Given the description of an element on the screen output the (x, y) to click on. 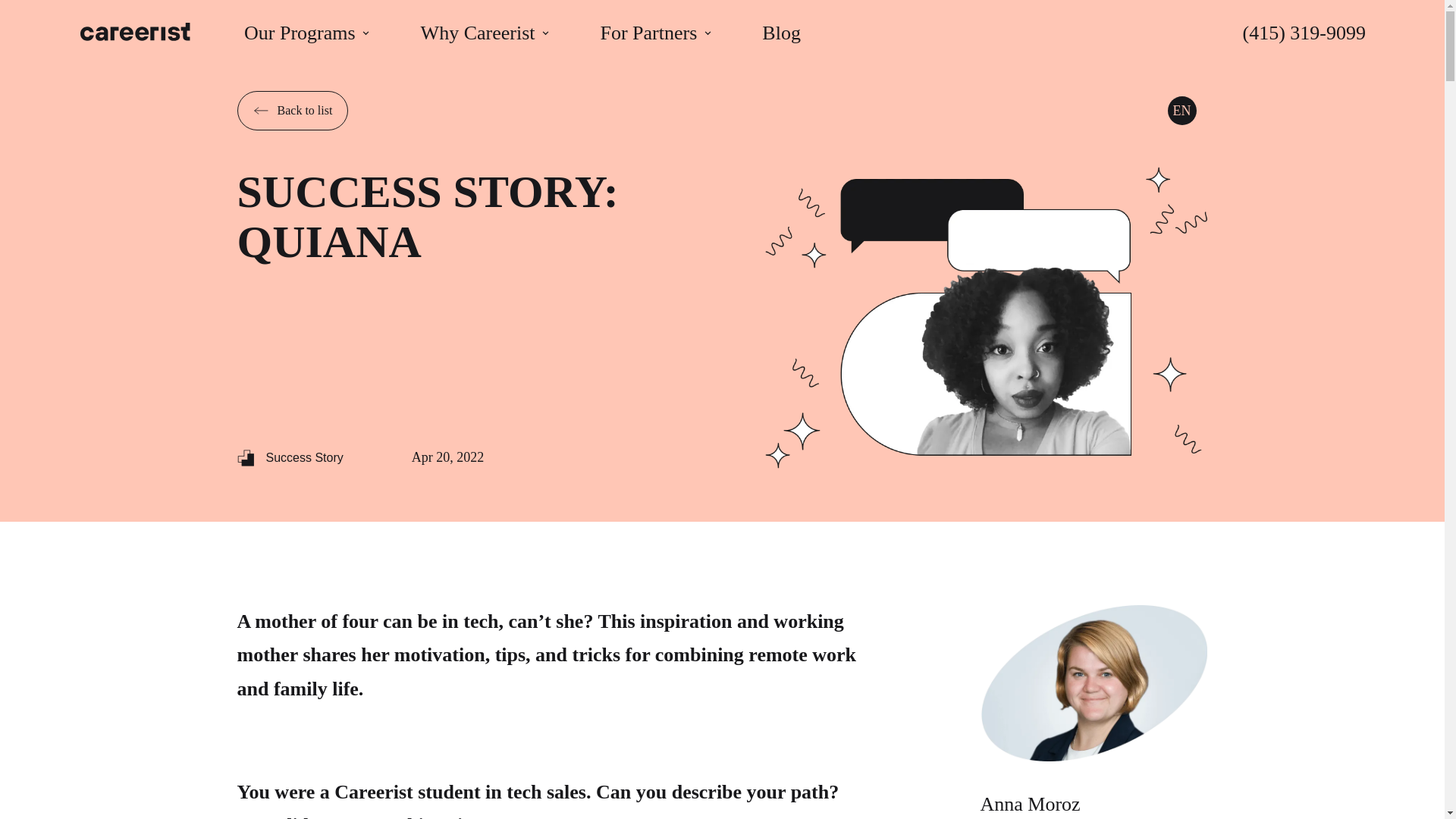
EN (1181, 110)
Back to list (291, 110)
